Given the description of an element on the screen output the (x, y) to click on. 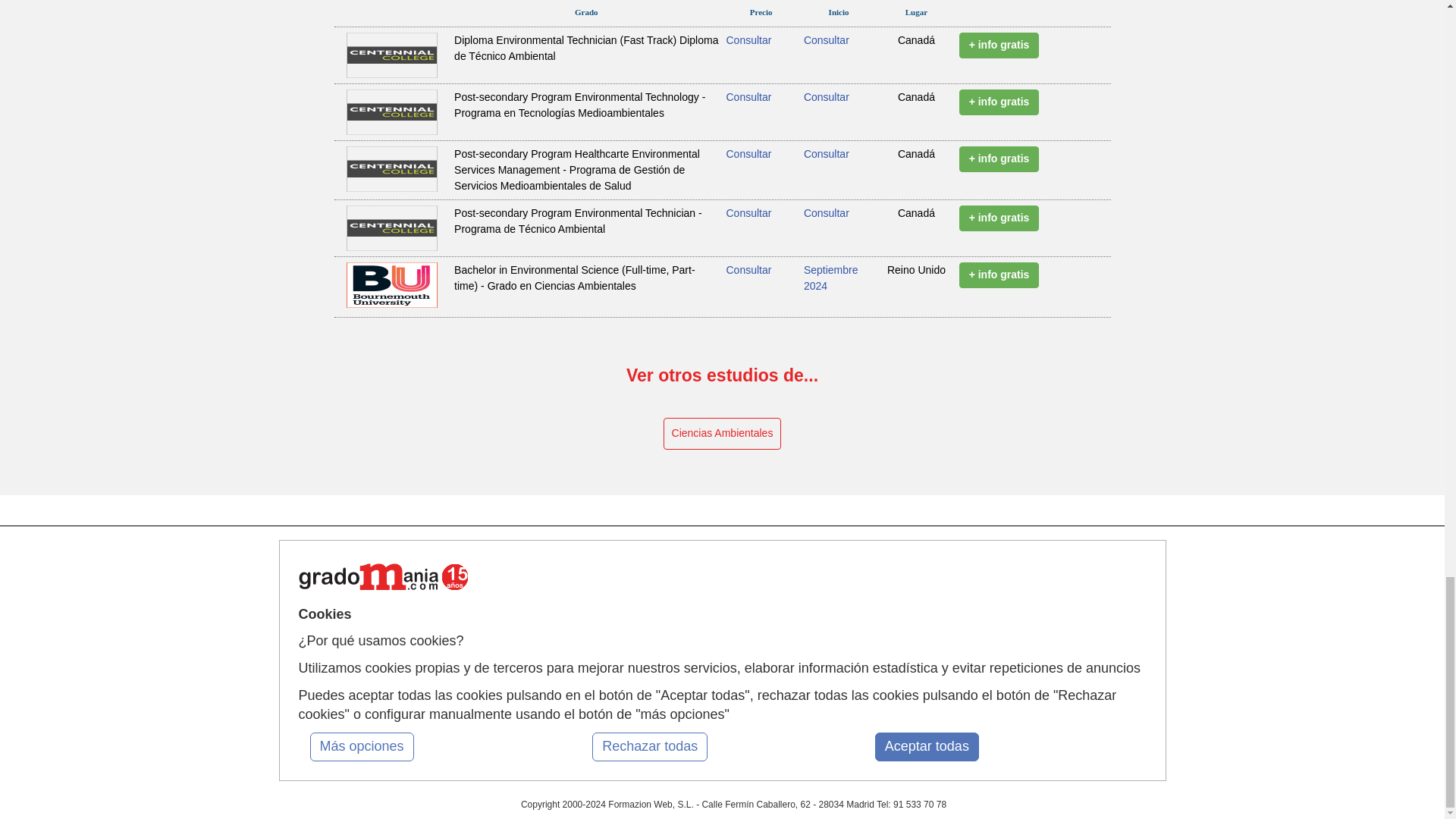
Ciencias Ambientales (722, 433)
Estudios de Ciencias Ambientales (722, 433)
Mapa (456, 577)
Quienes somos (476, 606)
